Given the description of an element on the screen output the (x, y) to click on. 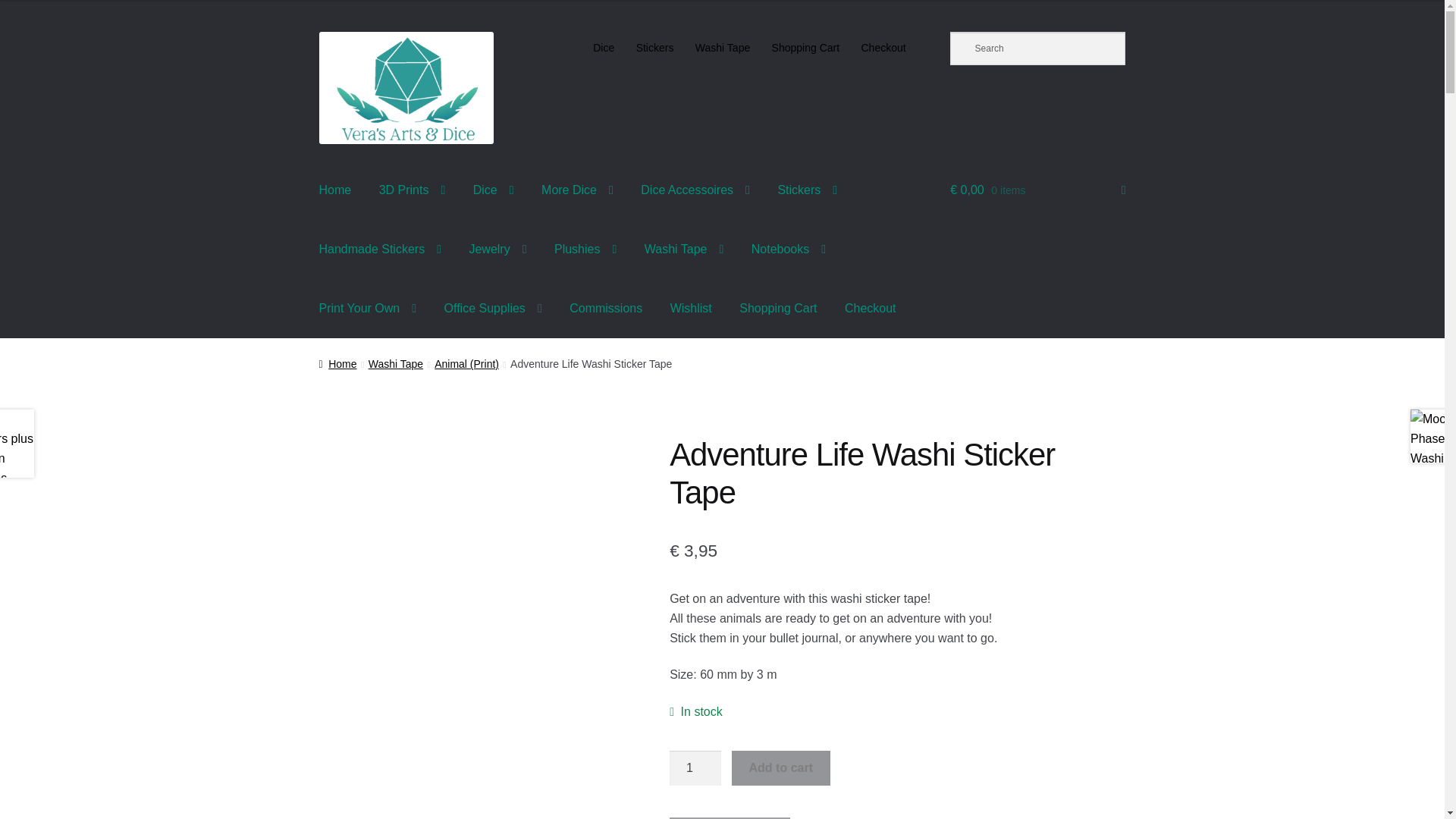
View your shopping cart (1037, 190)
1 (694, 768)
Shopping Cart (804, 47)
3D Prints (412, 190)
Dice (603, 47)
Checkout (883, 47)
Washi Tape (722, 47)
Home (335, 190)
Dice (493, 190)
Stickers (654, 47)
More Dice (577, 190)
Dice Accessoires (694, 190)
